Given the description of an element on the screen output the (x, y) to click on. 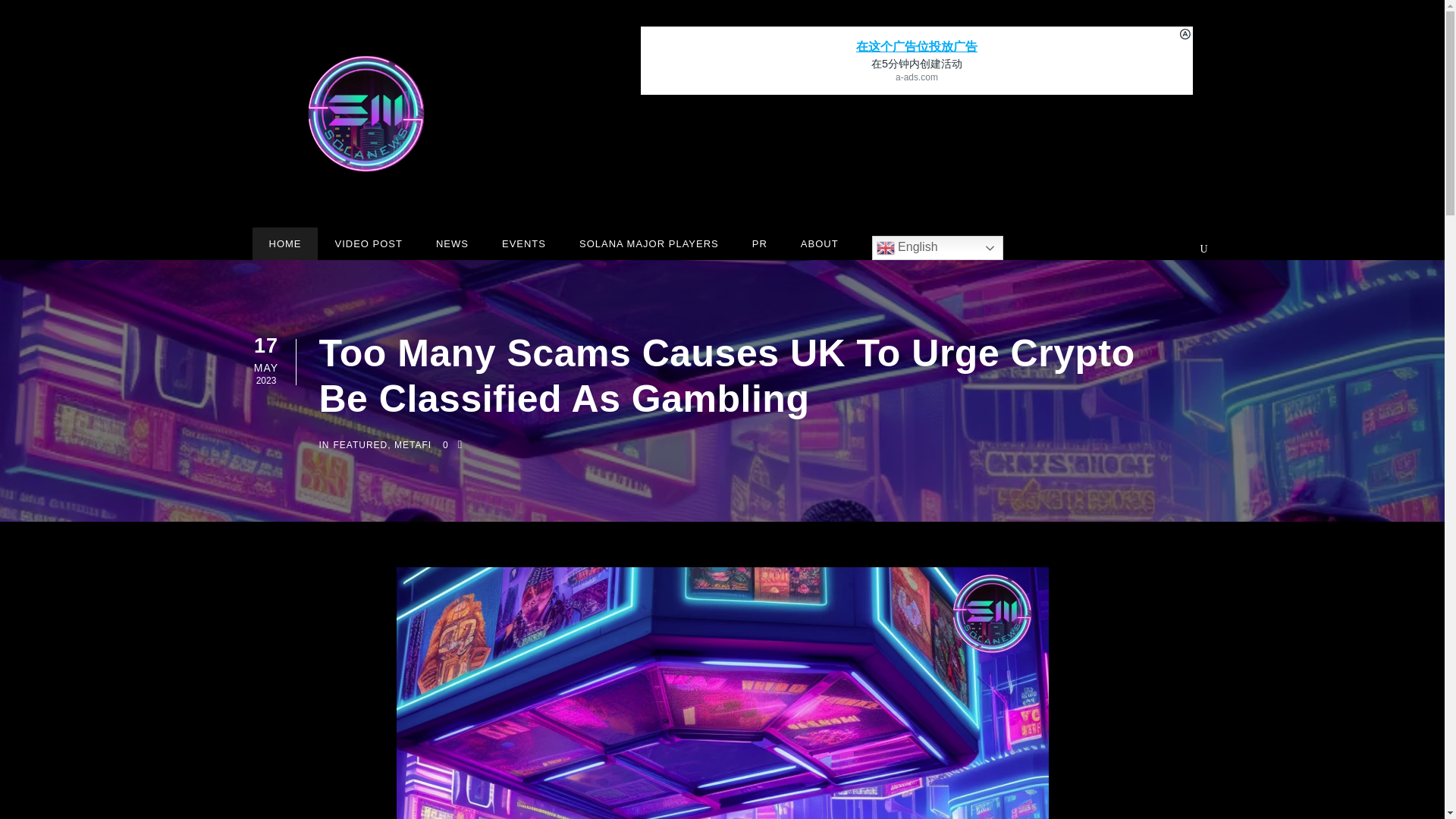
solanews (365, 113)
HOME (284, 244)
